Given the description of an element on the screen output the (x, y) to click on. 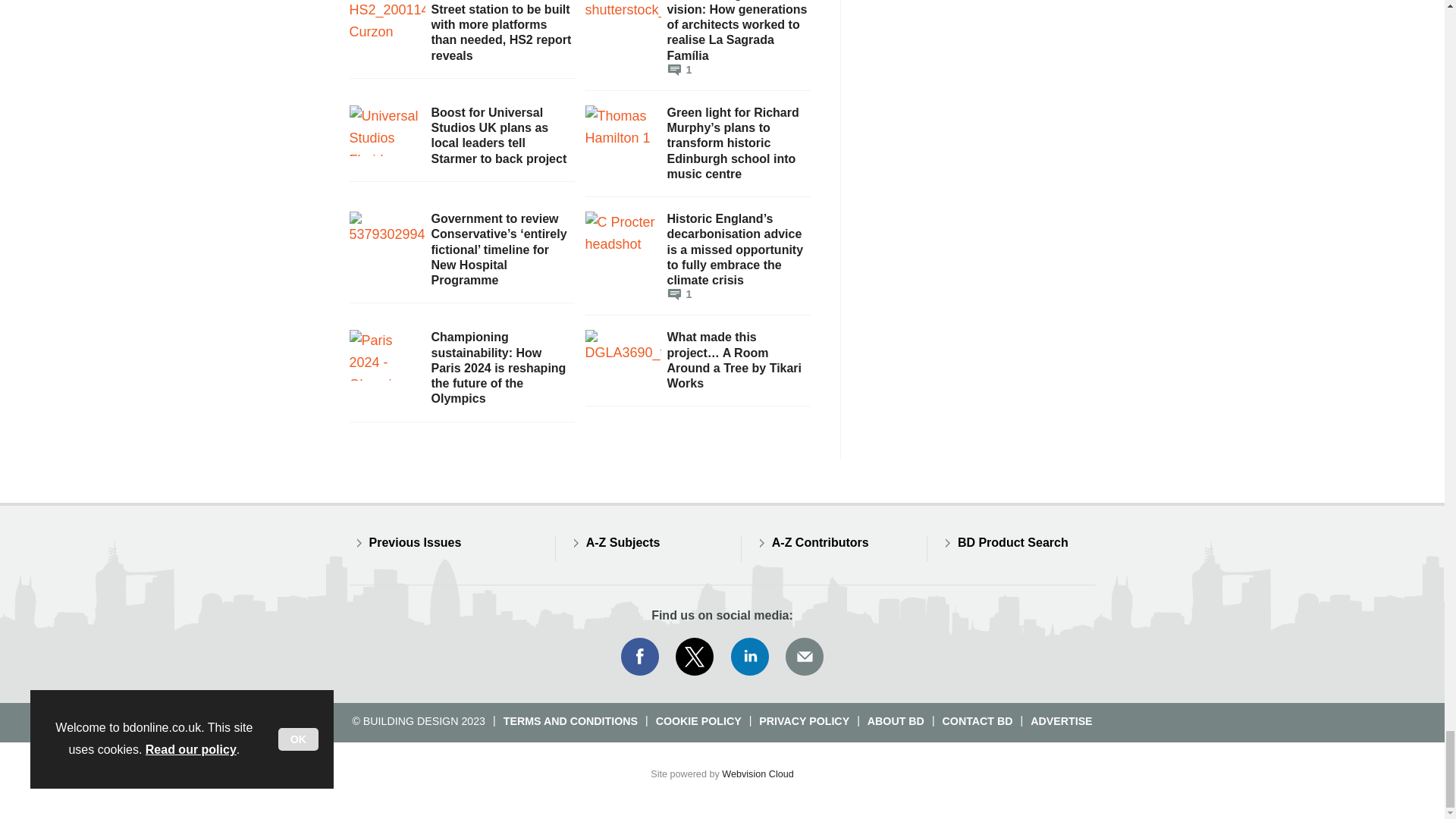
Connect with us on Linked in (750, 656)
Connect with us on Twitter (694, 656)
Connect with us on Facebook (639, 656)
Email us (804, 656)
